Given the description of an element on the screen output the (x, y) to click on. 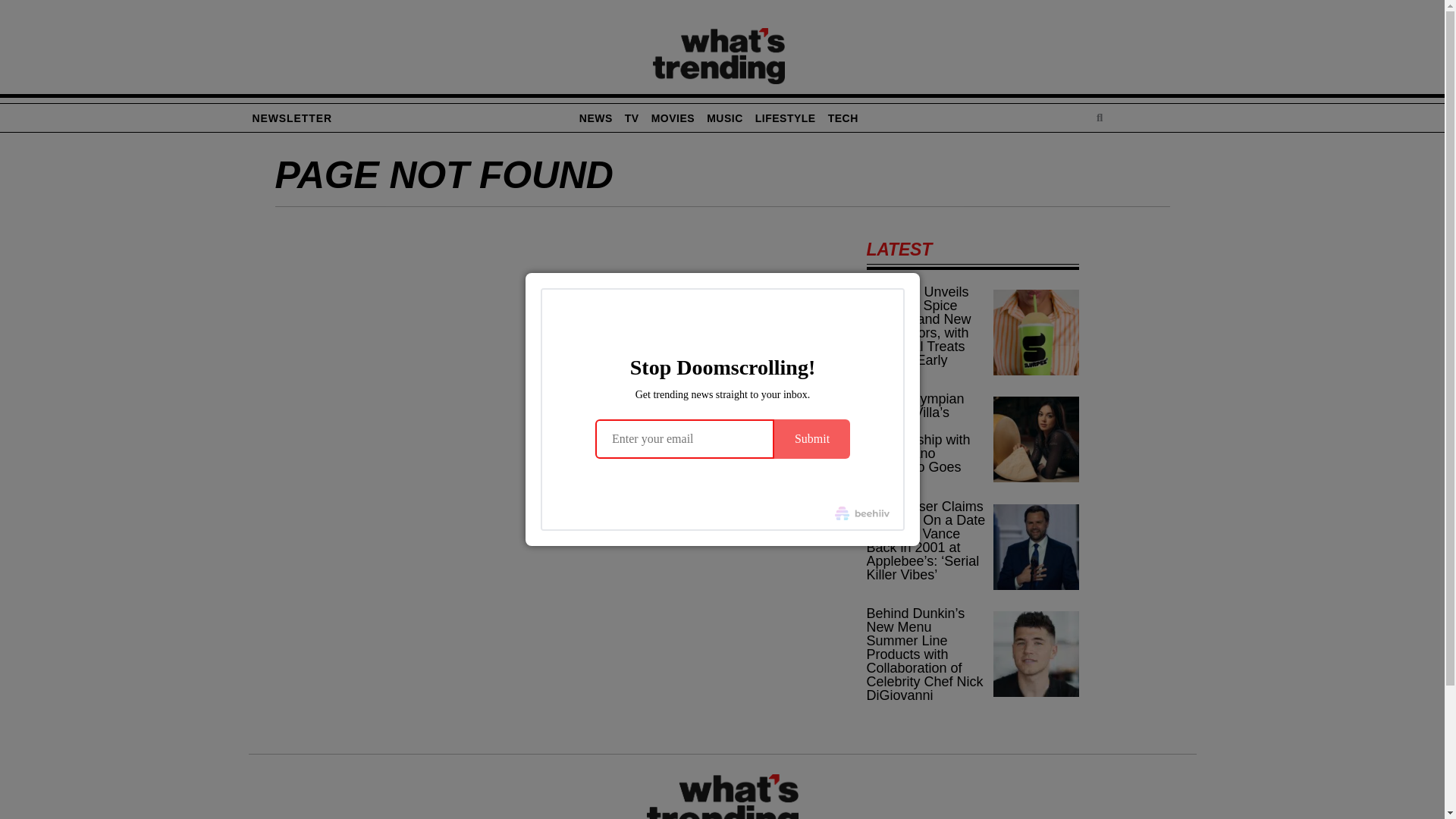
NEWS (595, 118)
LIFESTYLE (785, 118)
MUSIC (724, 118)
NEWSLETTER (292, 118)
TECH (843, 118)
MOVIES (672, 118)
TV (631, 118)
